Given the description of an element on the screen output the (x, y) to click on. 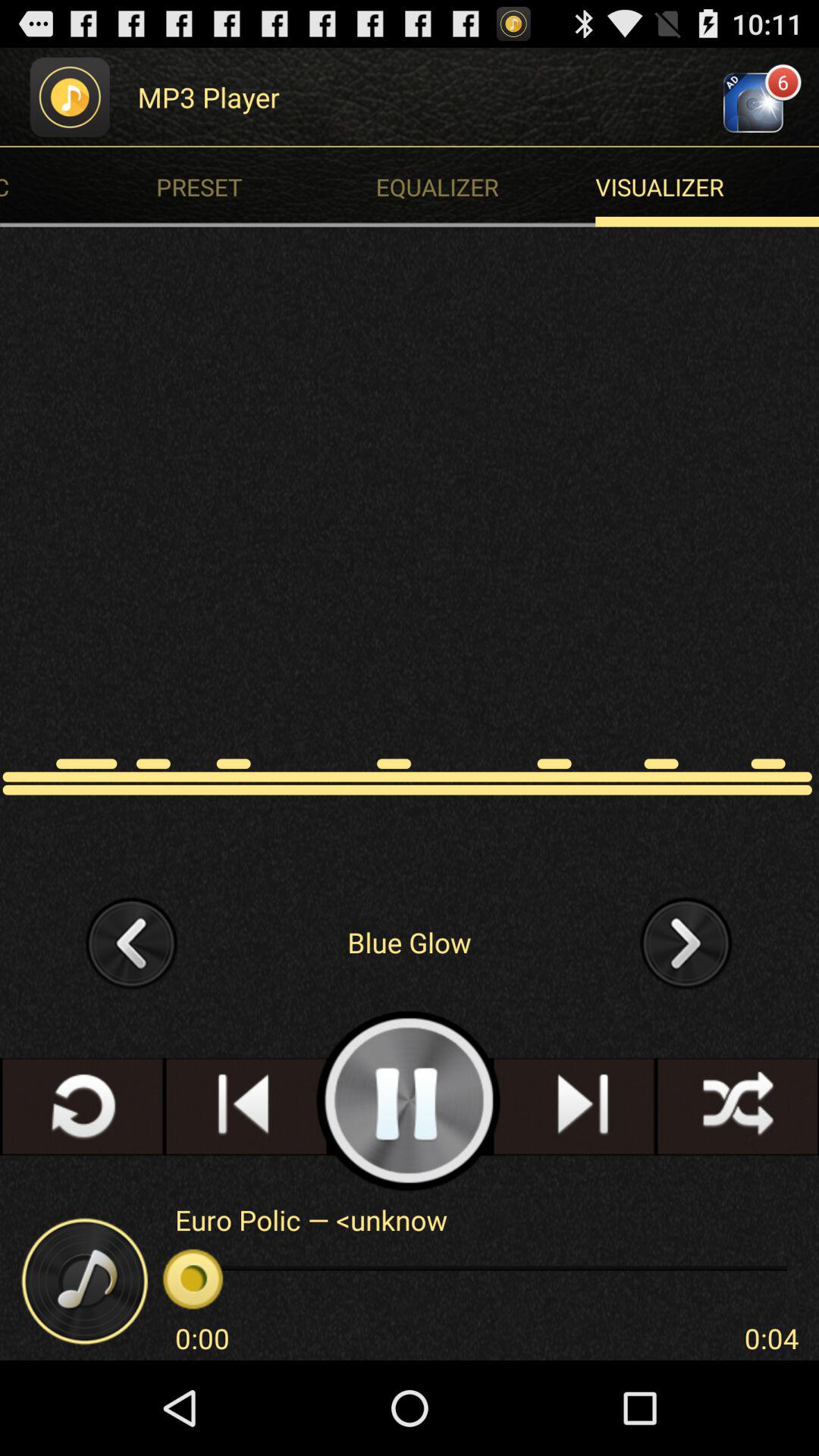
jump until preset item (269, 186)
